Given the description of an element on the screen output the (x, y) to click on. 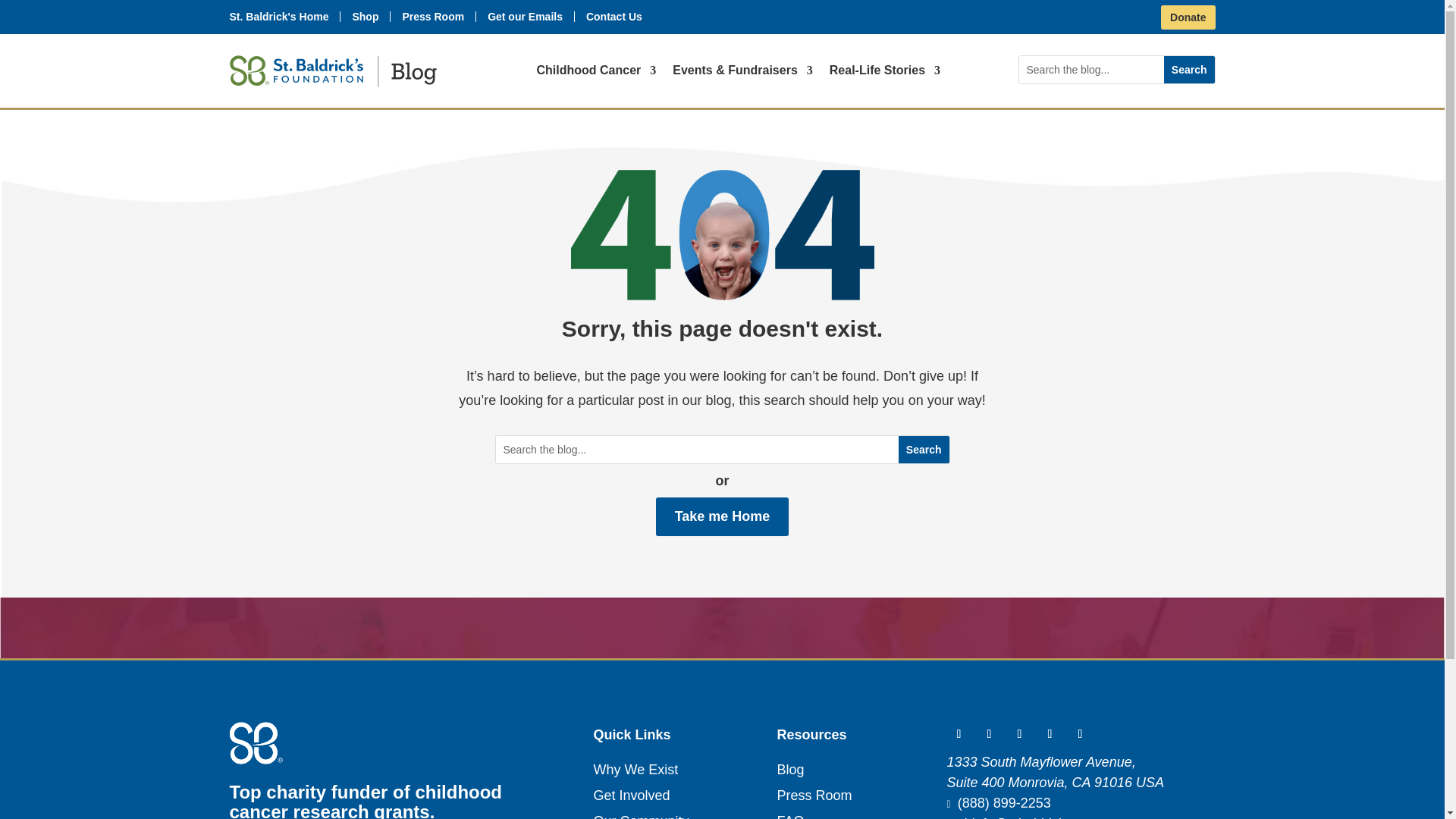
404-illustration (721, 234)
sbf-blog-sm (331, 70)
St. Baldrick's Home (278, 16)
Shop (365, 16)
Search (1188, 69)
Search (1188, 69)
Follow on Facebook (988, 733)
Get our Emails (524, 16)
Follow on Instagram (1048, 733)
Follow on LinkedIn (1018, 733)
